Given the description of an element on the screen output the (x, y) to click on. 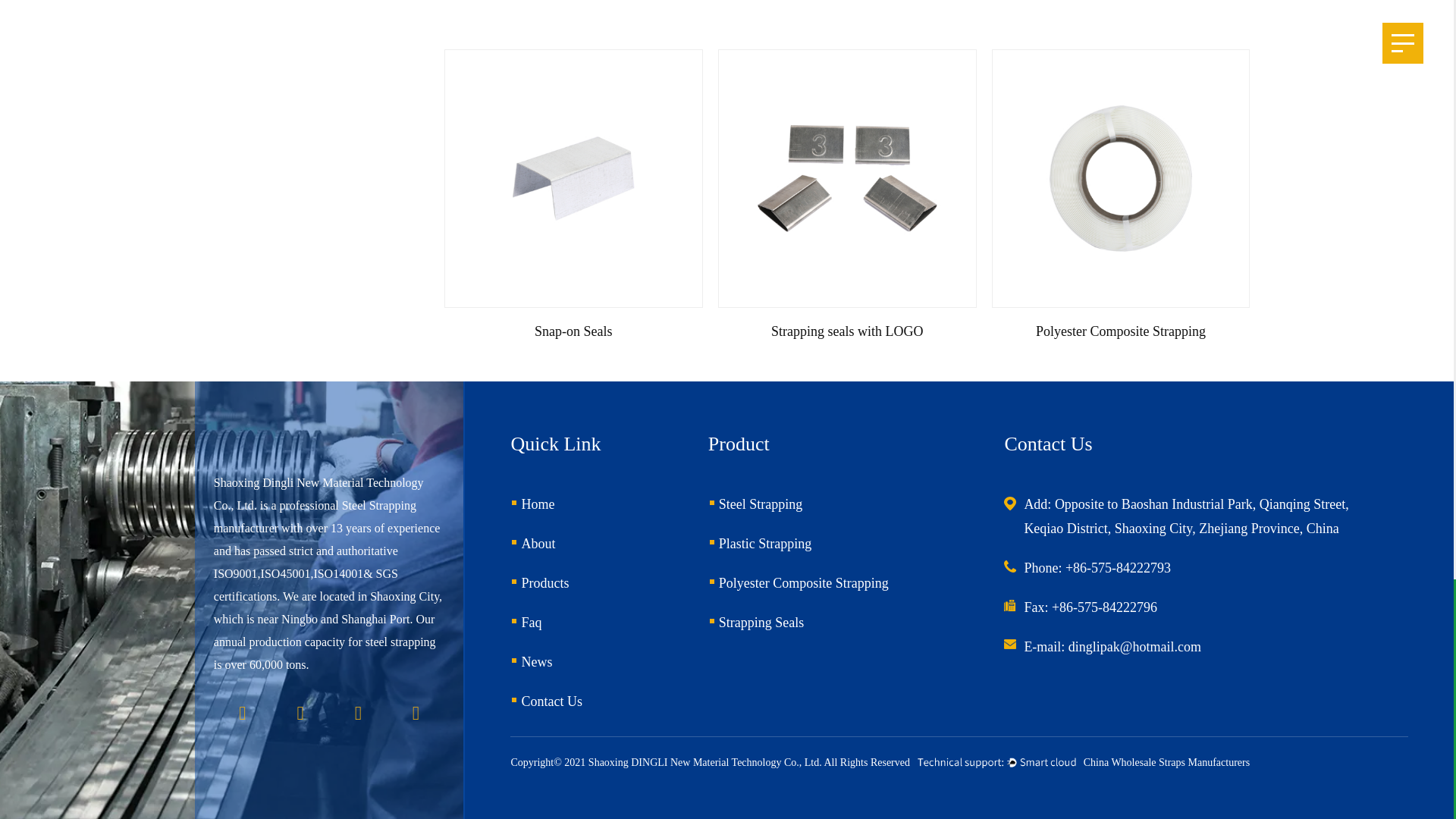
Polyester Composite Strapping (1120, 178)
Strapping seals with LOGO (847, 178)
Snap-on Seals (573, 178)
